Given the description of an element on the screen output the (x, y) to click on. 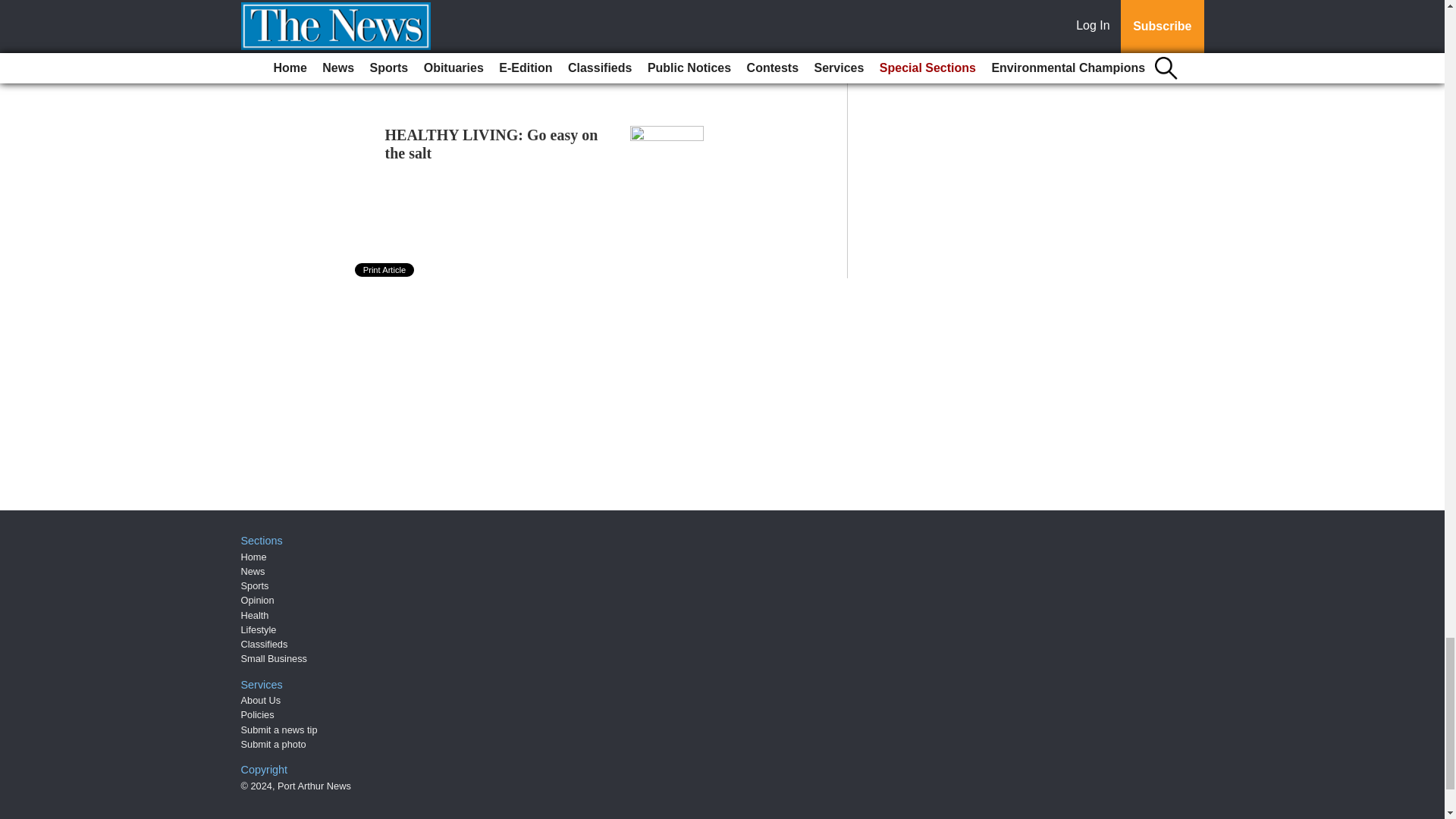
Print Article (384, 269)
HEALTHY LIVING: Go easy on the salt (491, 143)
HEALTHY LIVING: Go easy on the salt (491, 143)
